Given the description of an element on the screen output the (x, y) to click on. 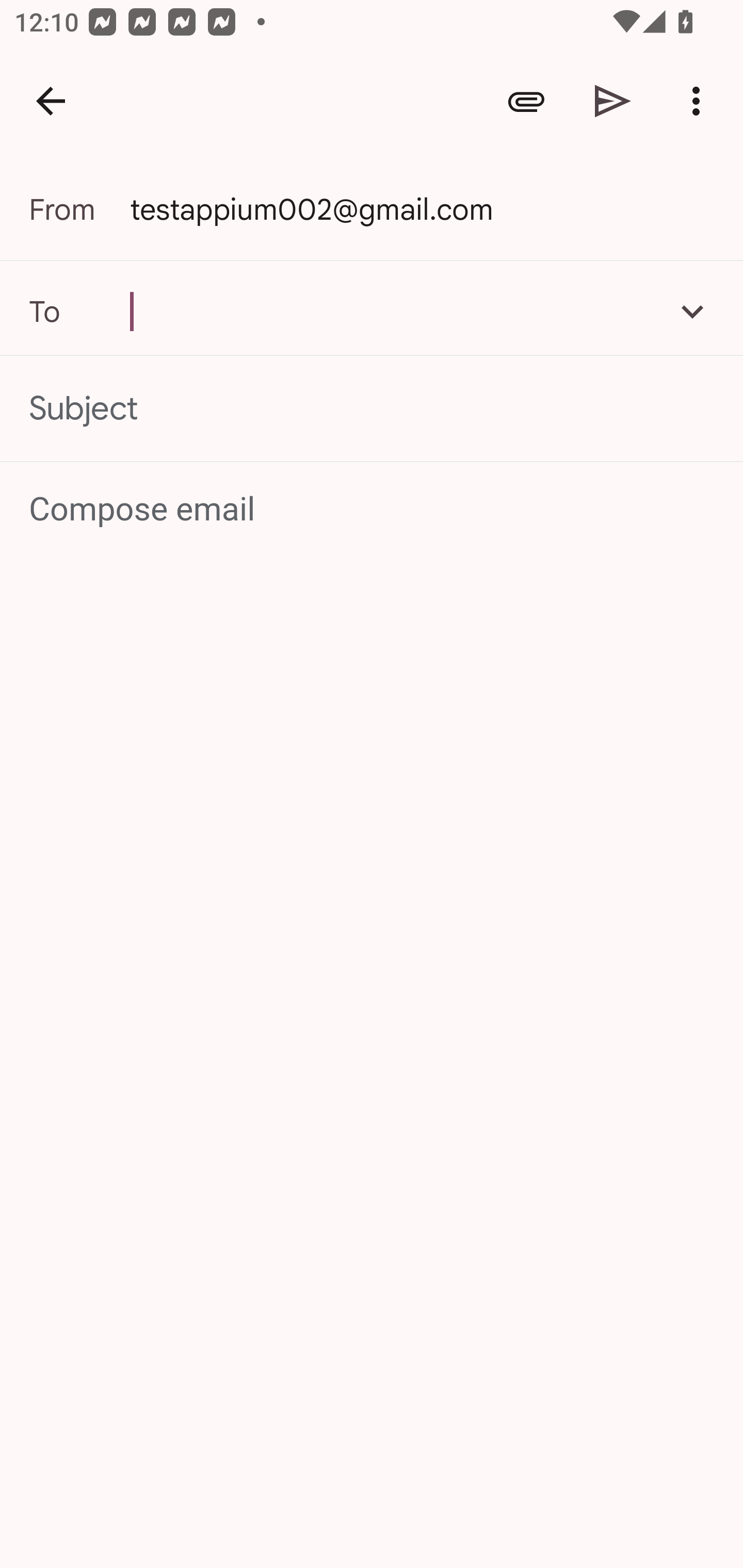
Navigate up (50, 101)
Attach file (525, 101)
Send (612, 101)
More options (699, 101)
From (79, 209)
Add Cc/Bcc (692, 311)
Subject (371, 407)
